Given the description of an element on the screen output the (x, y) to click on. 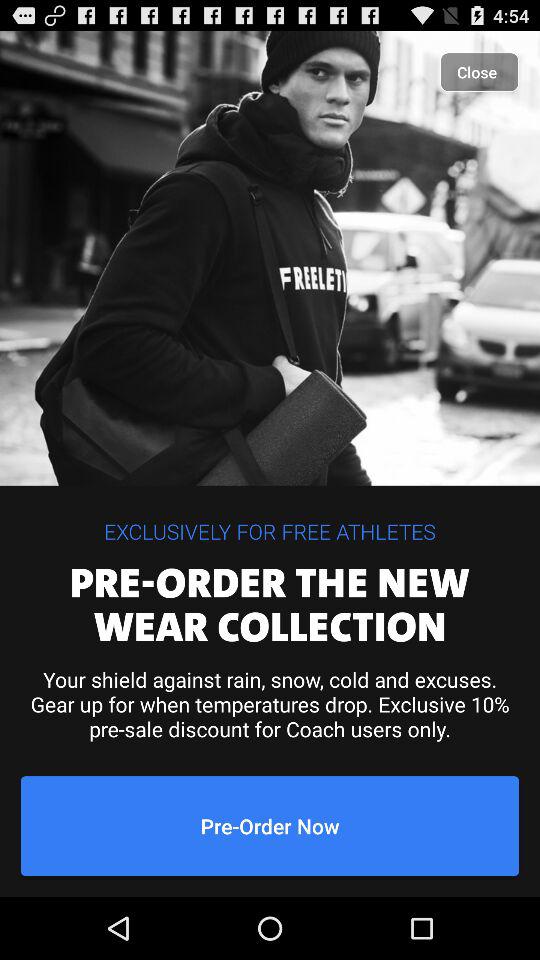
choose the item at the top right corner (479, 71)
